Given the description of an element on the screen output the (x, y) to click on. 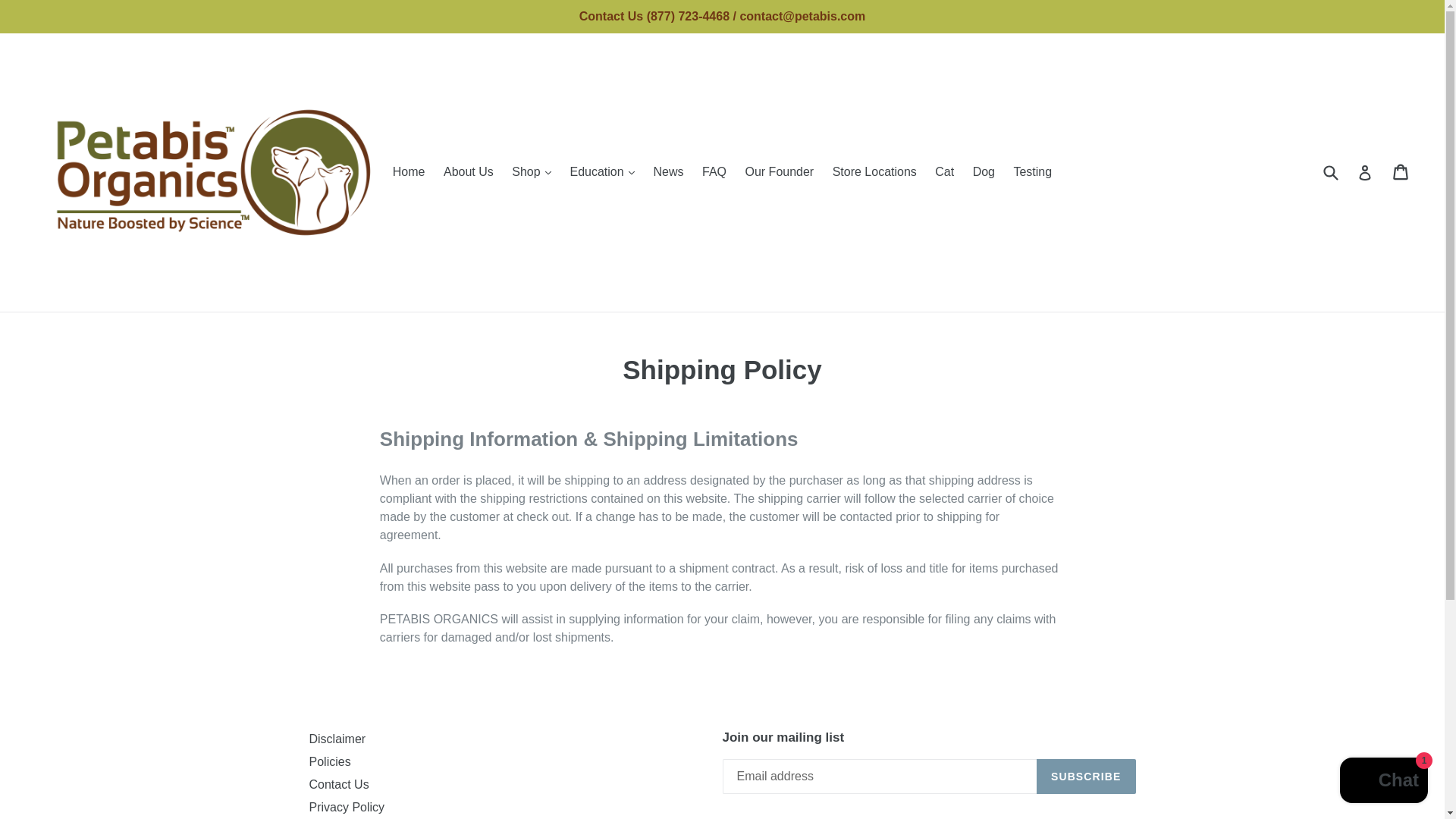
Home (408, 171)
Shopify online store chat (1383, 781)
About Us (467, 171)
